Given the description of an element on the screen output the (x, y) to click on. 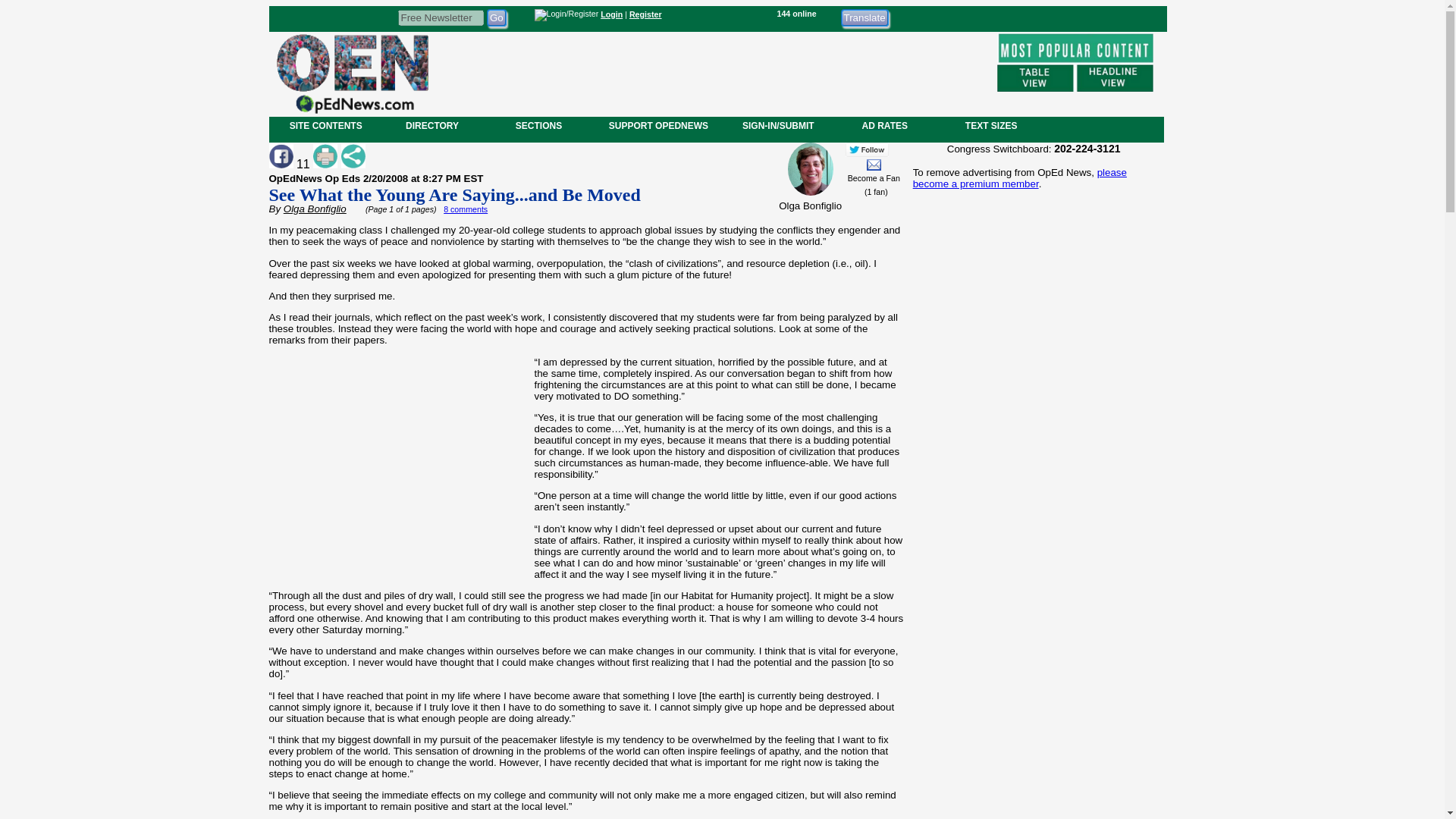
Olga Bonfiglio (314, 208)
Login (611, 13)
DIRECTORY (431, 125)
Advertisement (1032, 702)
SECTIONS (537, 125)
Advertisement (711, 71)
Translate (864, 17)
SUPPORT OPEDNEWS (658, 125)
TEXT SIZES (990, 125)
SITE CONTENTS (325, 125)
